Given the description of an element on the screen output the (x, y) to click on. 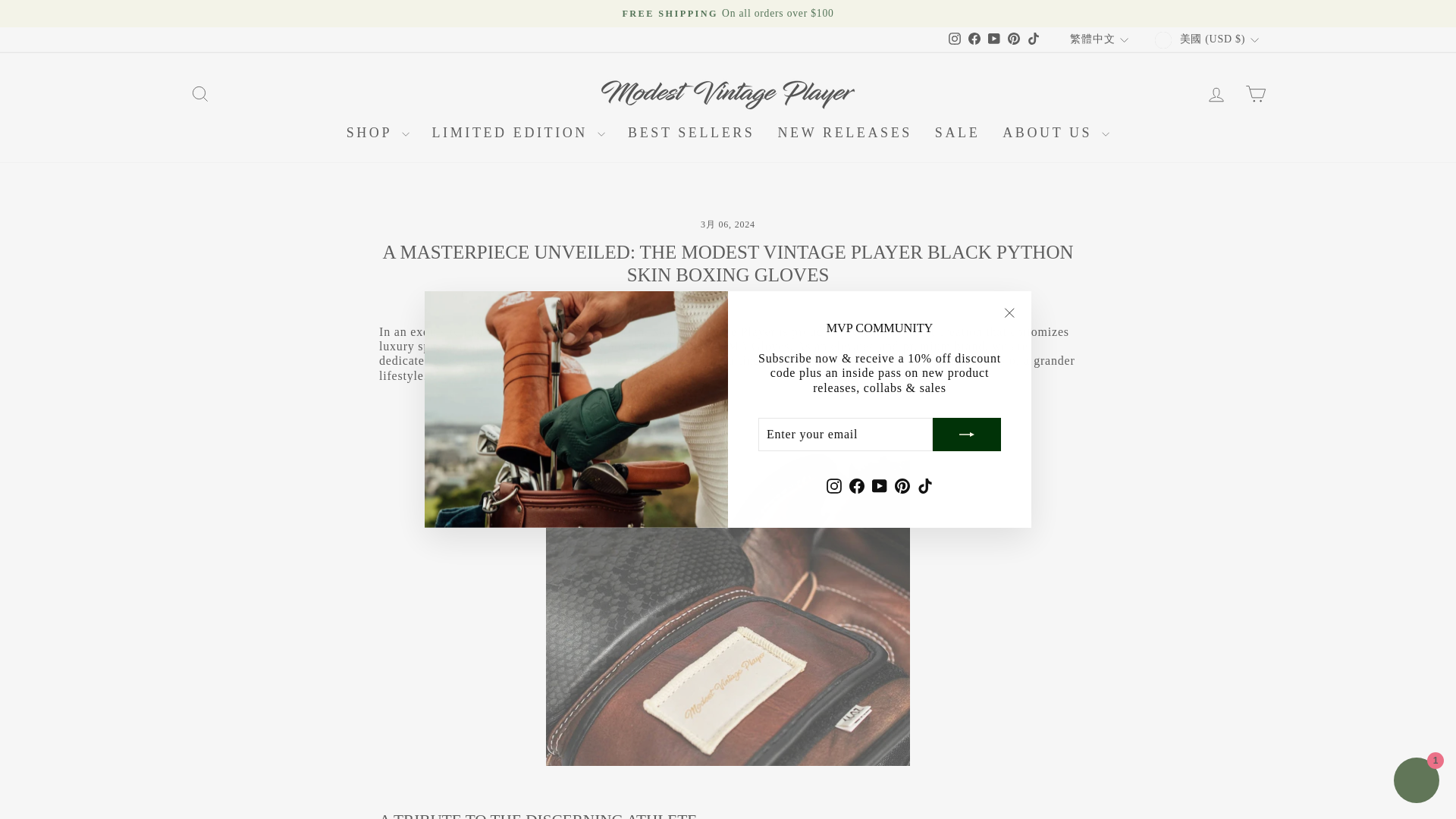
MODEST VINTAGE PLAYER LTD on Facebook (973, 39)
MODEST VINTAGE PLAYER LTD on Facebook (856, 485)
instagram (954, 38)
MODEST VINTAGE PLAYER LTD on TikTok (925, 485)
ICON-SEARCH (200, 93)
MODEST VINTAGE PLAYER LTD on Instagram (833, 485)
MODEST VINTAGE PLAYER LTD on YouTube (994, 39)
ACCOUNT (1216, 94)
MODEST VINTAGE PLAYER LTD on Instagram (953, 39)
MODEST VINTAGE PLAYER LTD on Pinterest (1013, 39)
icon-X (1009, 312)
MODEST VINTAGE PLAYER LTD on Pinterest (902, 485)
MODEST VINTAGE PLAYER LTD on TikTok (1033, 39)
MODEST VINTAGE PLAYER LTD on YouTube (879, 485)
